Given the description of an element on the screen output the (x, y) to click on. 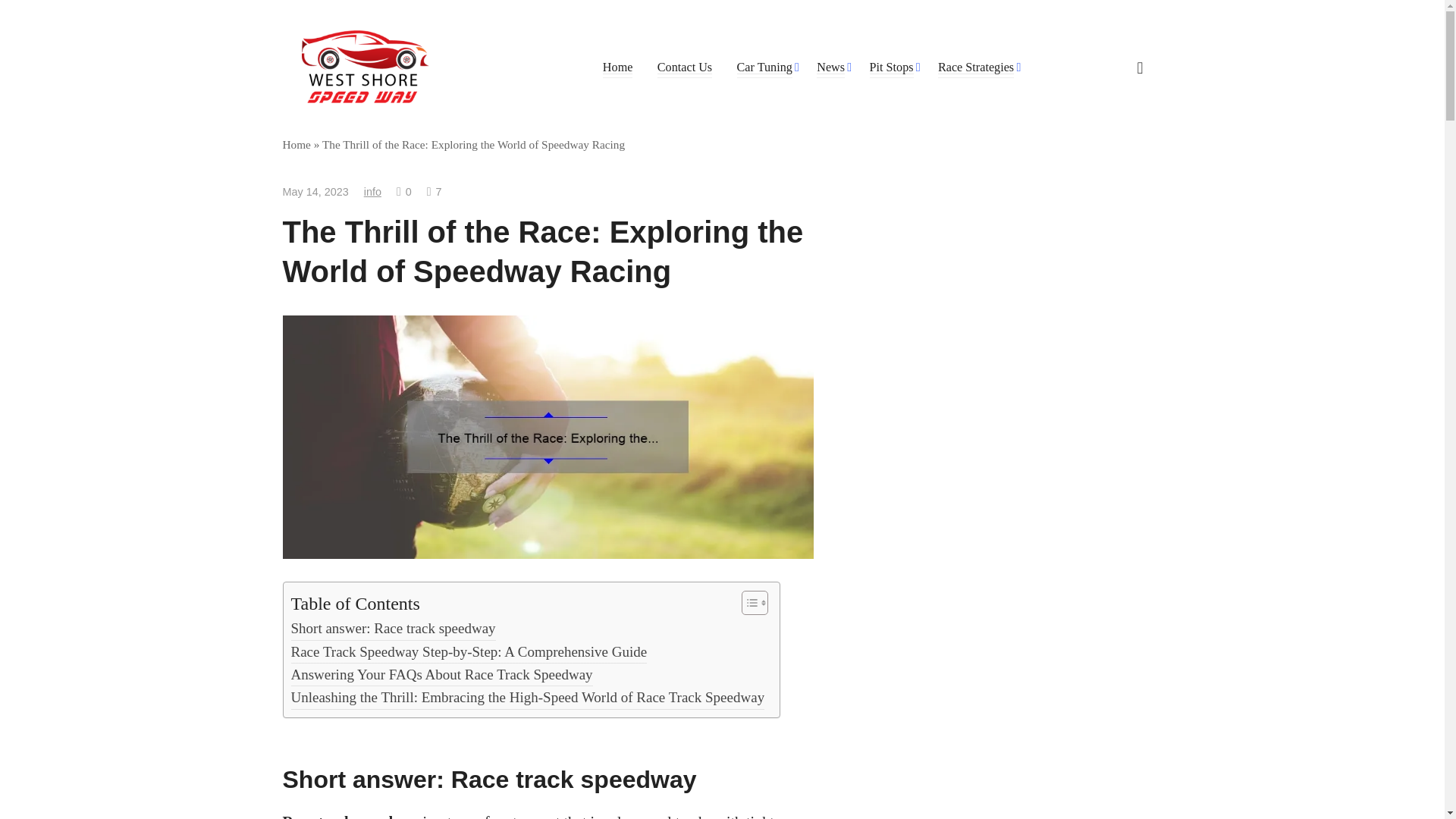
Race Strategies (975, 67)
News (830, 67)
Home (617, 67)
Pit Stops (890, 67)
Contact Us (684, 67)
Car Tuning (764, 67)
Short answer: Race track speedway (393, 628)
Answering Your FAQs About Race Track Speedway (441, 674)
Race Track Speedway Step-by-Step: A Comprehensive Guide (469, 651)
